Given the description of an element on the screen output the (x, y) to click on. 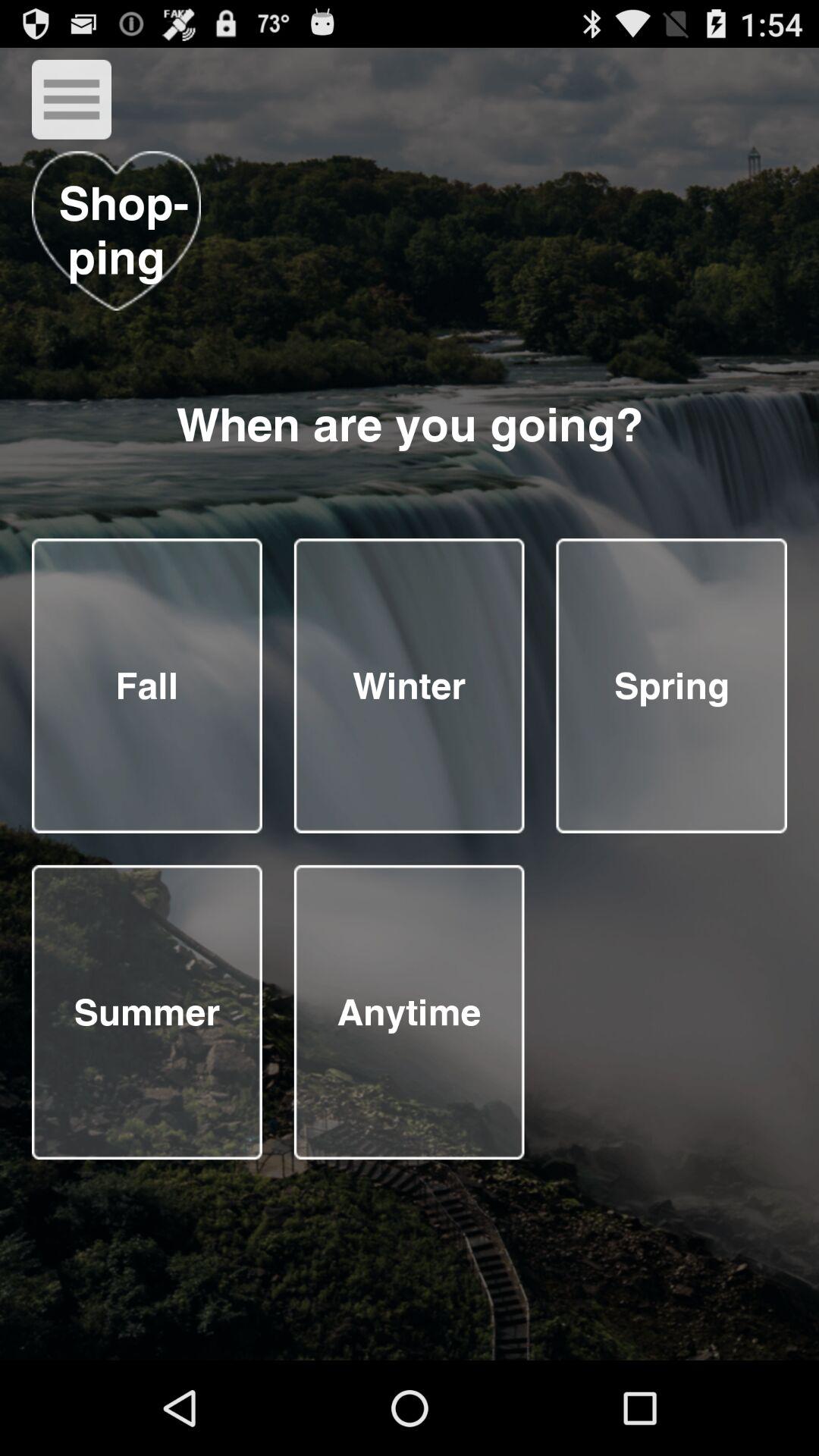
select summer as your shopping choice (146, 1012)
